Given the description of an element on the screen output the (x, y) to click on. 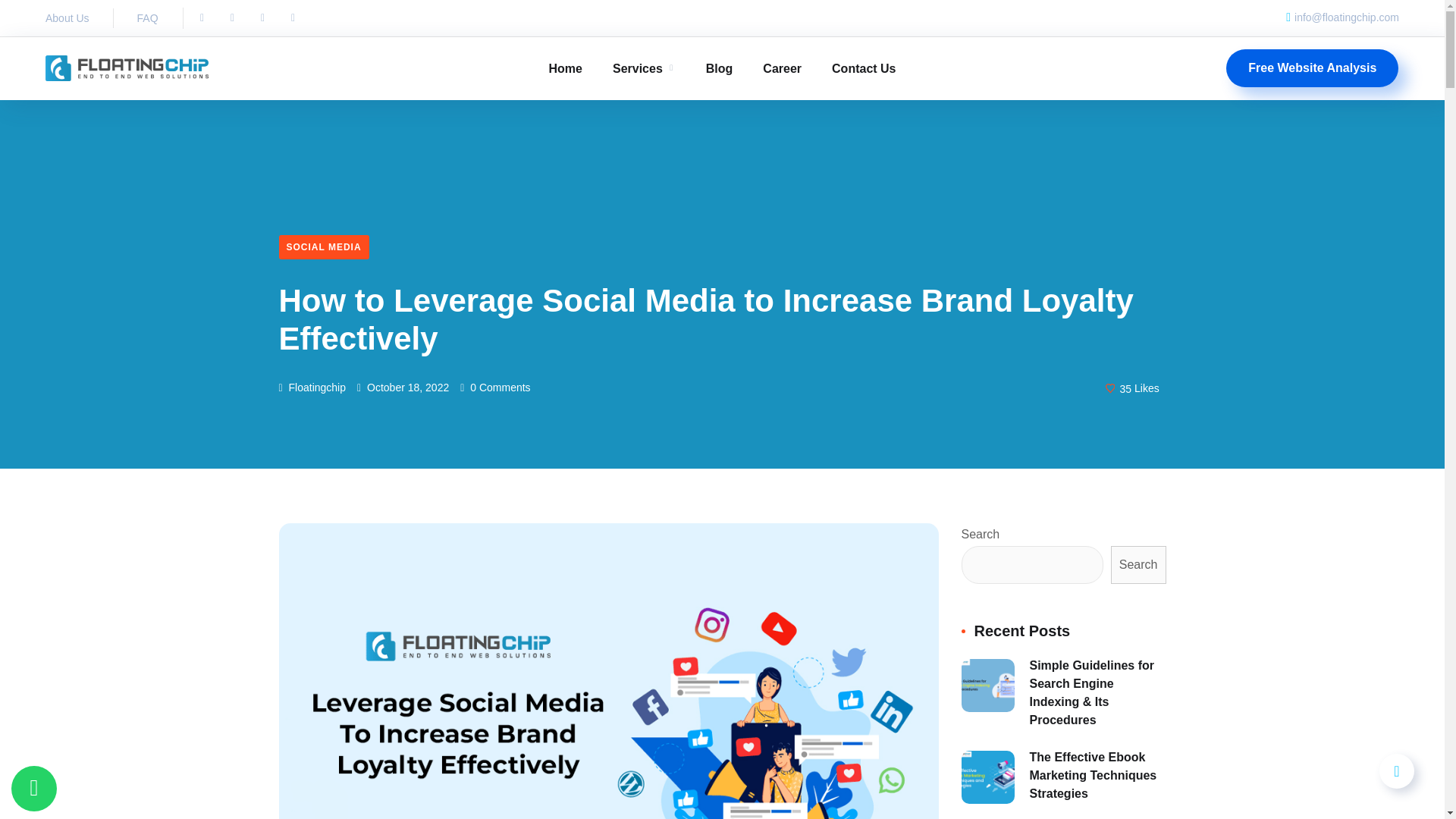
Free Website Analysis (1311, 67)
FAQ (147, 17)
SOCIAL MEDIA (324, 247)
About Us (66, 17)
Like (1132, 387)
Services (643, 68)
Contact Us (863, 68)
Floatingchip (312, 387)
